Given the description of an element on the screen output the (x, y) to click on. 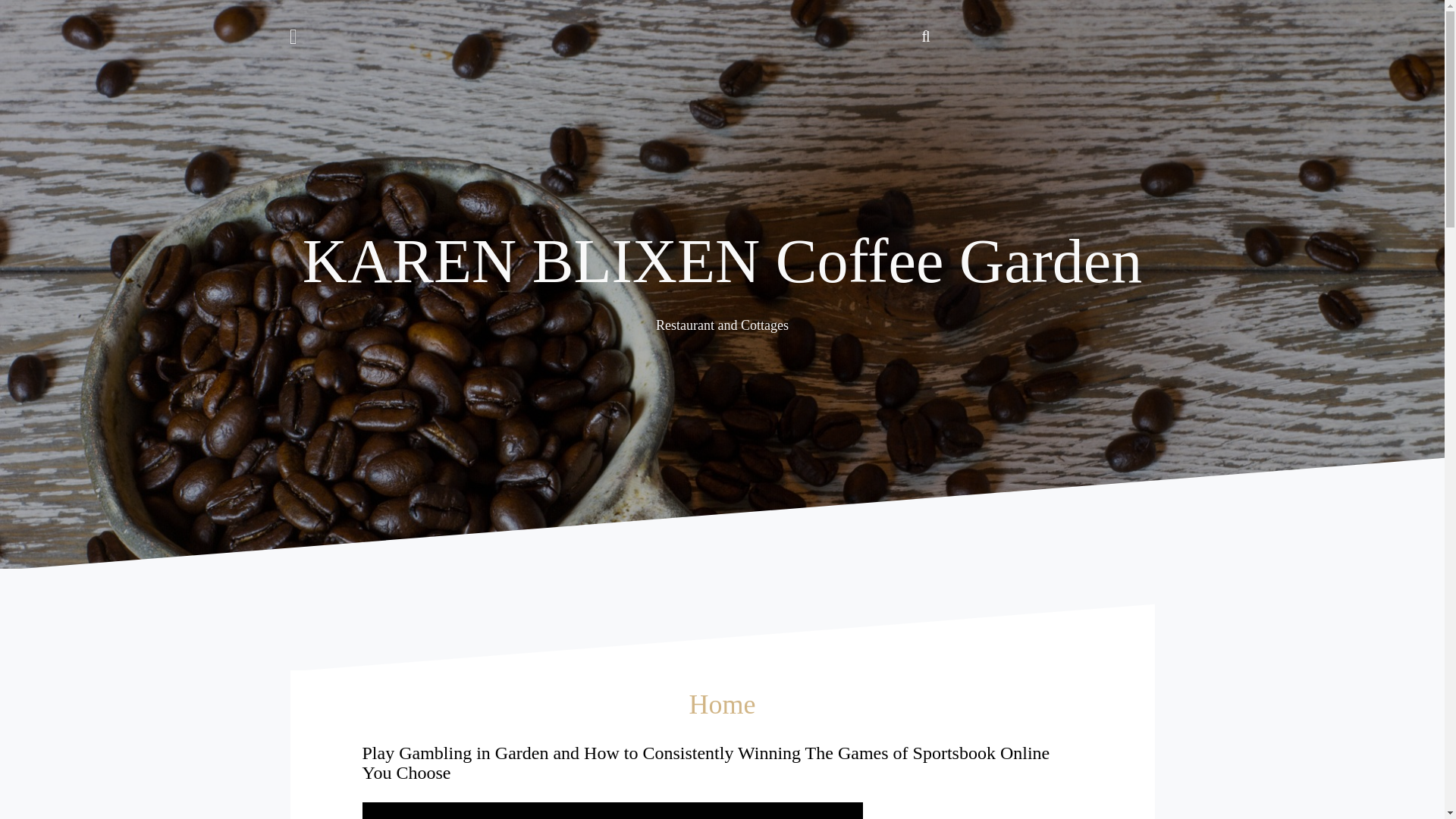
Home (945, 29)
Activities (963, 29)
Links (1073, 29)
Contact Us (1146, 29)
KAREN BLIXEN Coffee Garden (721, 260)
About Us (1128, 29)
History of the Grogan MacMillan Manor House (1055, 29)
Cottages (982, 29)
Search (30, 20)
Gallery (1018, 29)
